Given the description of an element on the screen output the (x, y) to click on. 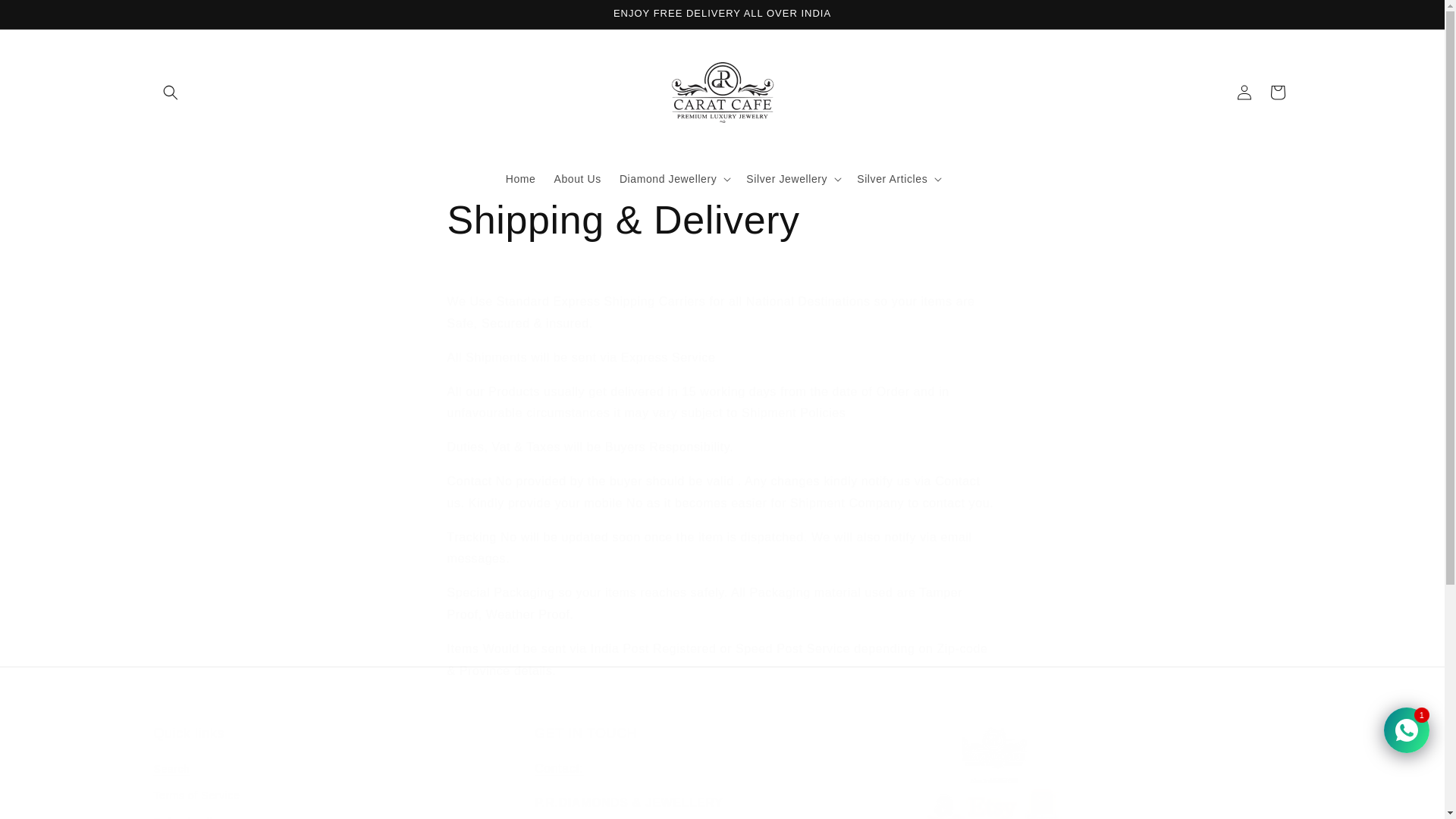
Contact Us (558, 768)
Skip to content (45, 17)
Home (520, 178)
About Us (577, 178)
